Given the description of an element on the screen output the (x, y) to click on. 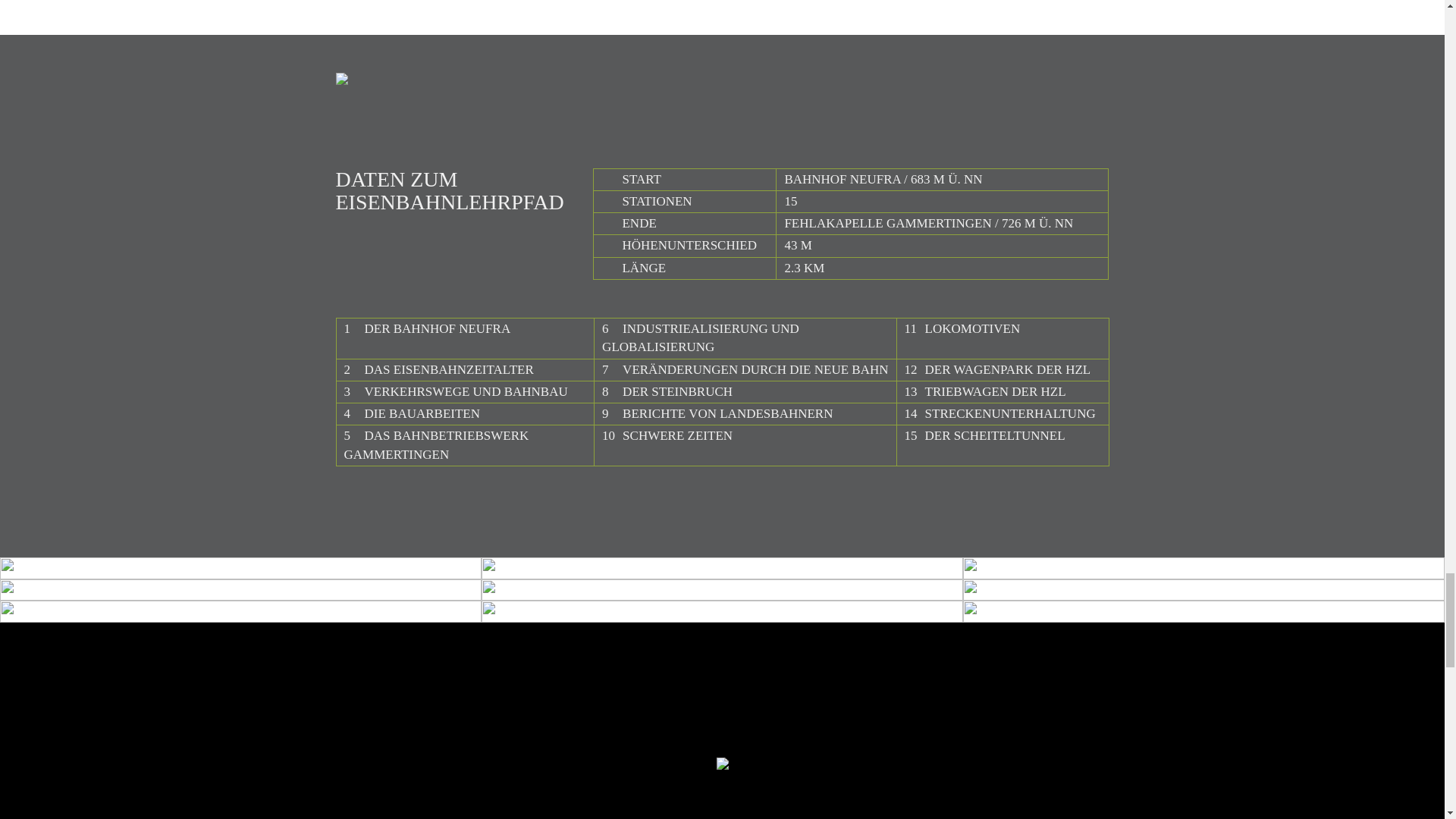
6INDUSTRIEALISIERUNG UND GLOBALISIERUNG (700, 337)
4DIE BAUARBEITEN (411, 413)
14STRECKENUNTERHALTUNG (1000, 413)
13TRIEBWAGEN DER HZL (984, 391)
3VERKEHRSWEGE UND BAHNBAU (455, 391)
5DAS BAHNBETRIEBSWERK GAMMERTINGEN (436, 444)
12DER WAGENPARK DER HZL (997, 369)
10SCHWERE ZEITEN (667, 435)
2DAS EISENBAHNZEITALTER (438, 369)
15DER SCHEITELTUNNEL (984, 435)
8DER STEINBRUCH (667, 391)
11LOKOMOTIVEN (962, 328)
1DER BAHNHOF NEUFRA (427, 328)
9BERICHTE VON LANDESBAHNERN (717, 413)
